Given the description of an element on the screen output the (x, y) to click on. 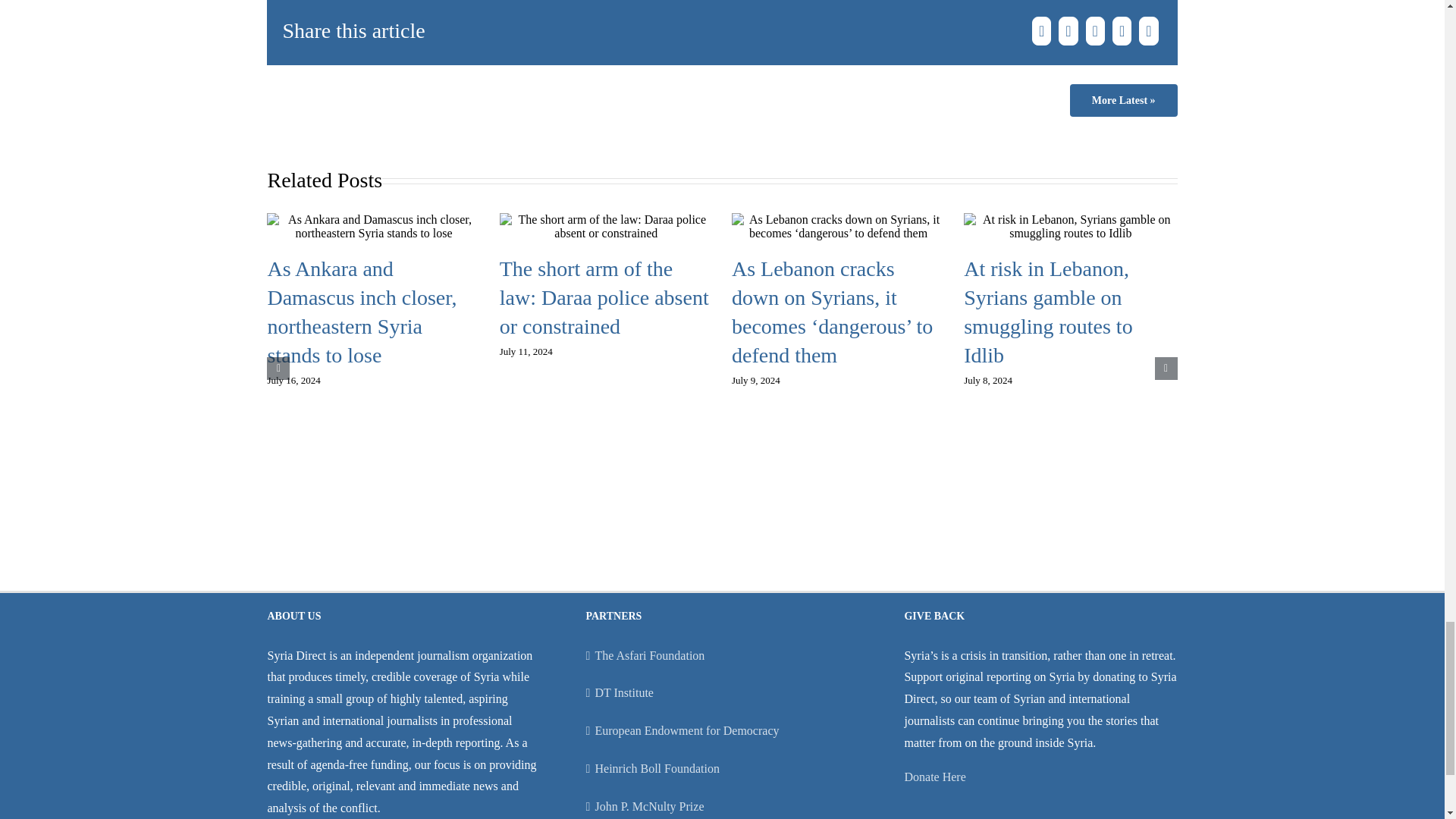
The short arm of the law: Daraa police absent or constrained (604, 297)
